Given the description of an element on the screen output the (x, y) to click on. 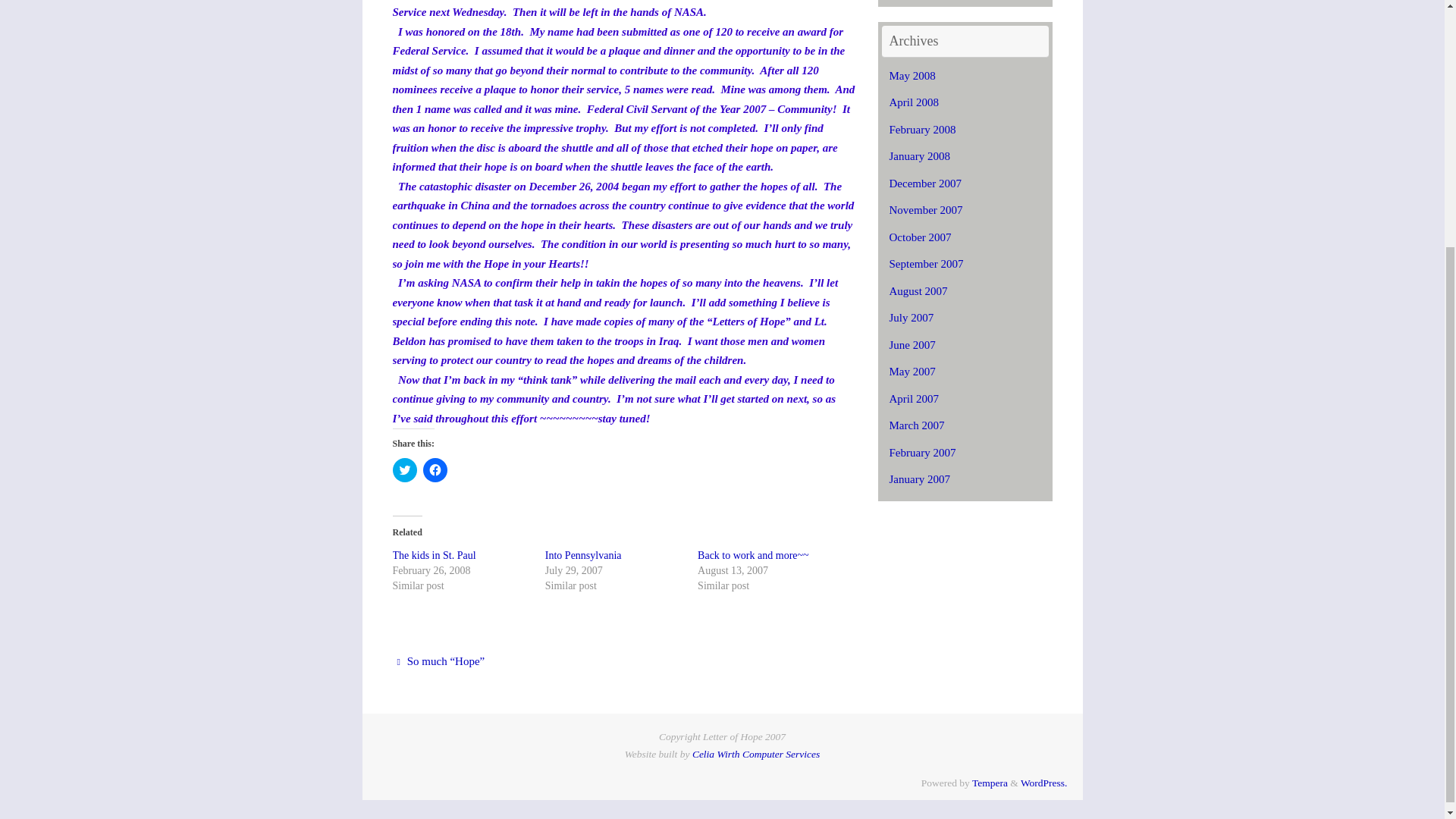
Into Pennsylvania (582, 555)
Semantic Personal Publishing Platform (1043, 782)
January 2008 (918, 155)
December 2007 (924, 183)
The kids in St. Paul (434, 555)
October 2007 (919, 236)
November 2007 (925, 209)
September 2007 (925, 263)
May 2008 (911, 75)
February 2008 (921, 129)
